Given the description of an element on the screen output the (x, y) to click on. 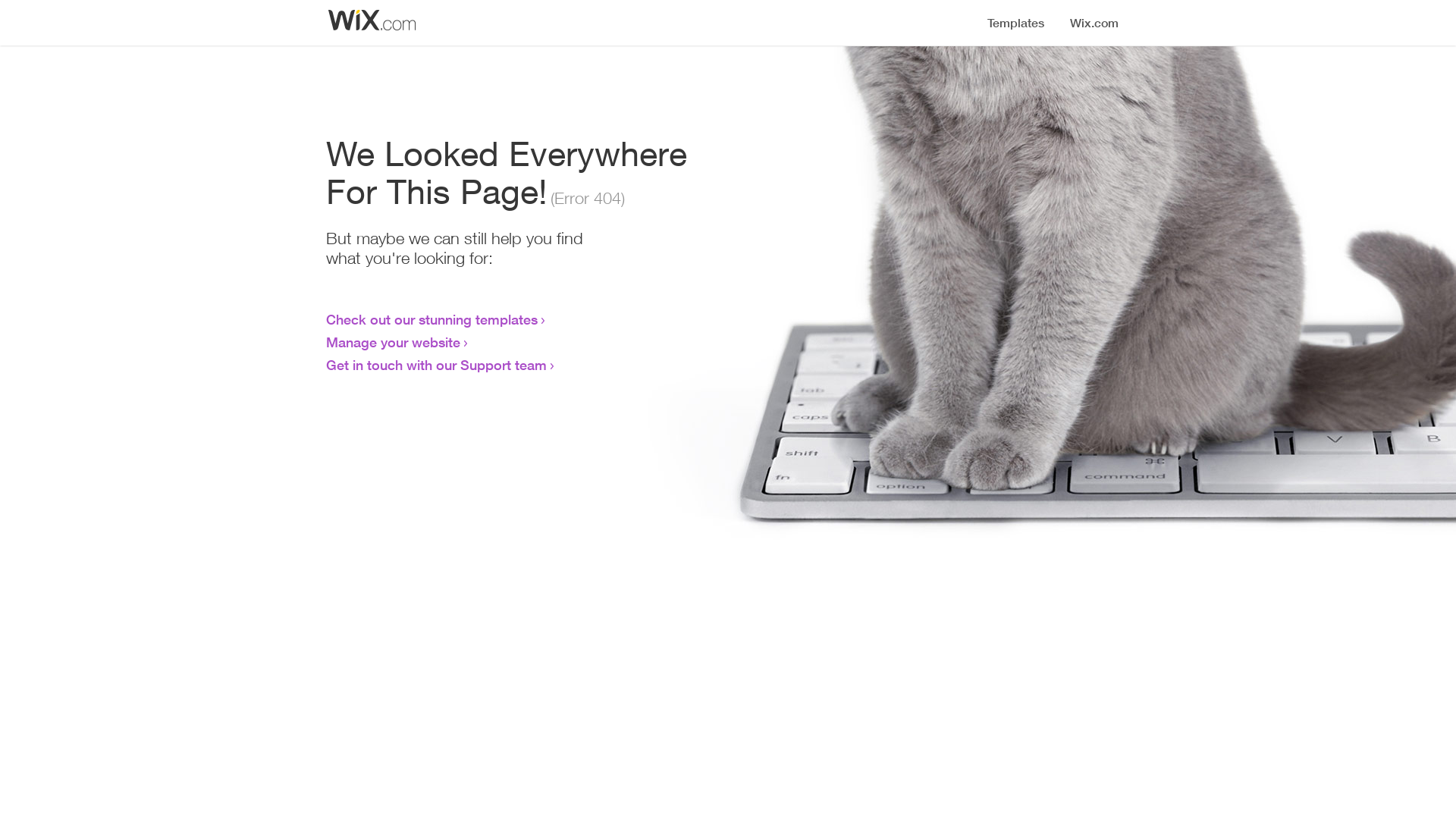
Get in touch with our Support team Element type: text (436, 364)
Check out our stunning templates Element type: text (431, 318)
Manage your website Element type: text (393, 341)
